Given the description of an element on the screen output the (x, y) to click on. 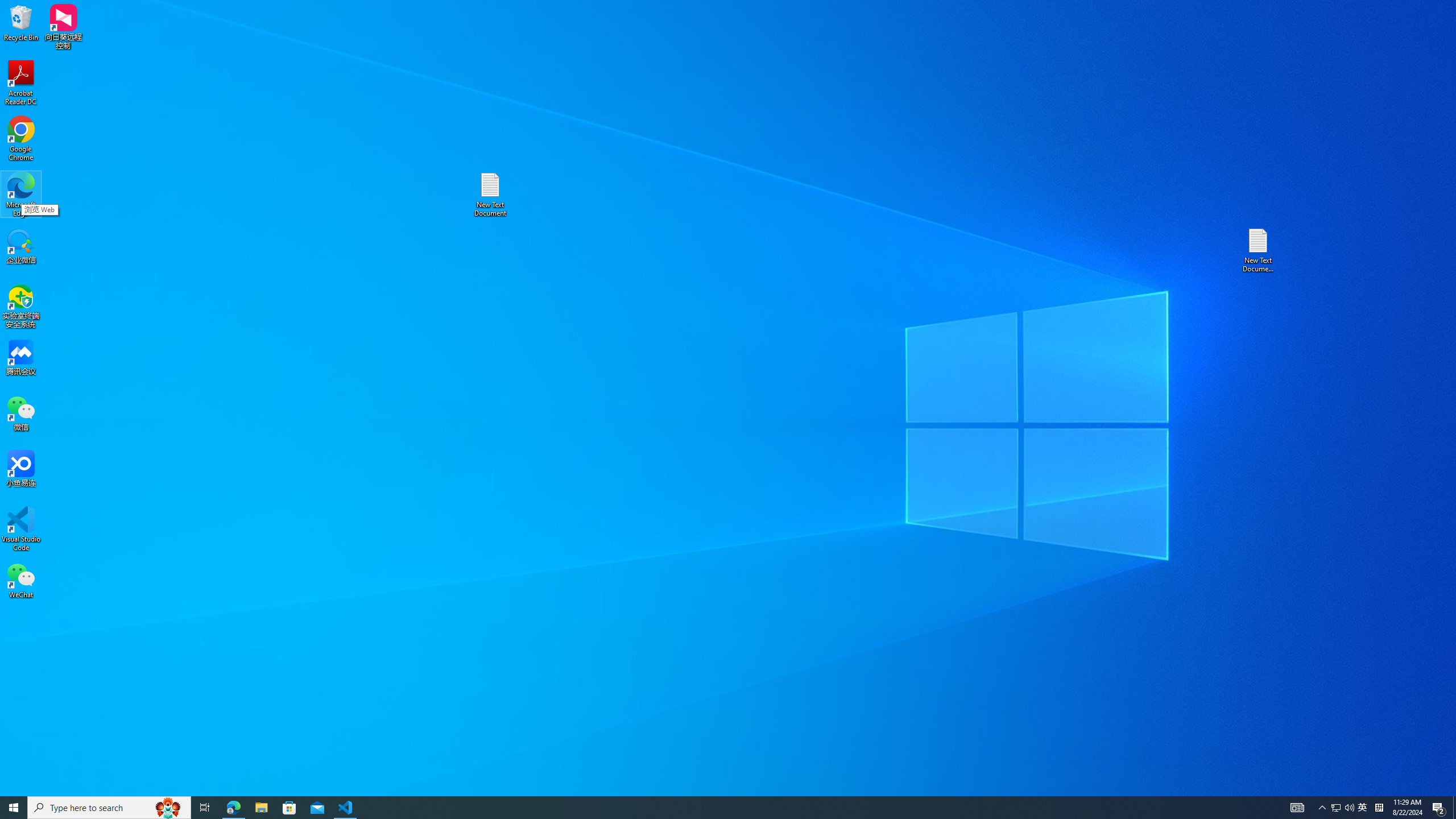
Acrobat Reader DC (21, 82)
